Given the description of an element on the screen output the (x, y) to click on. 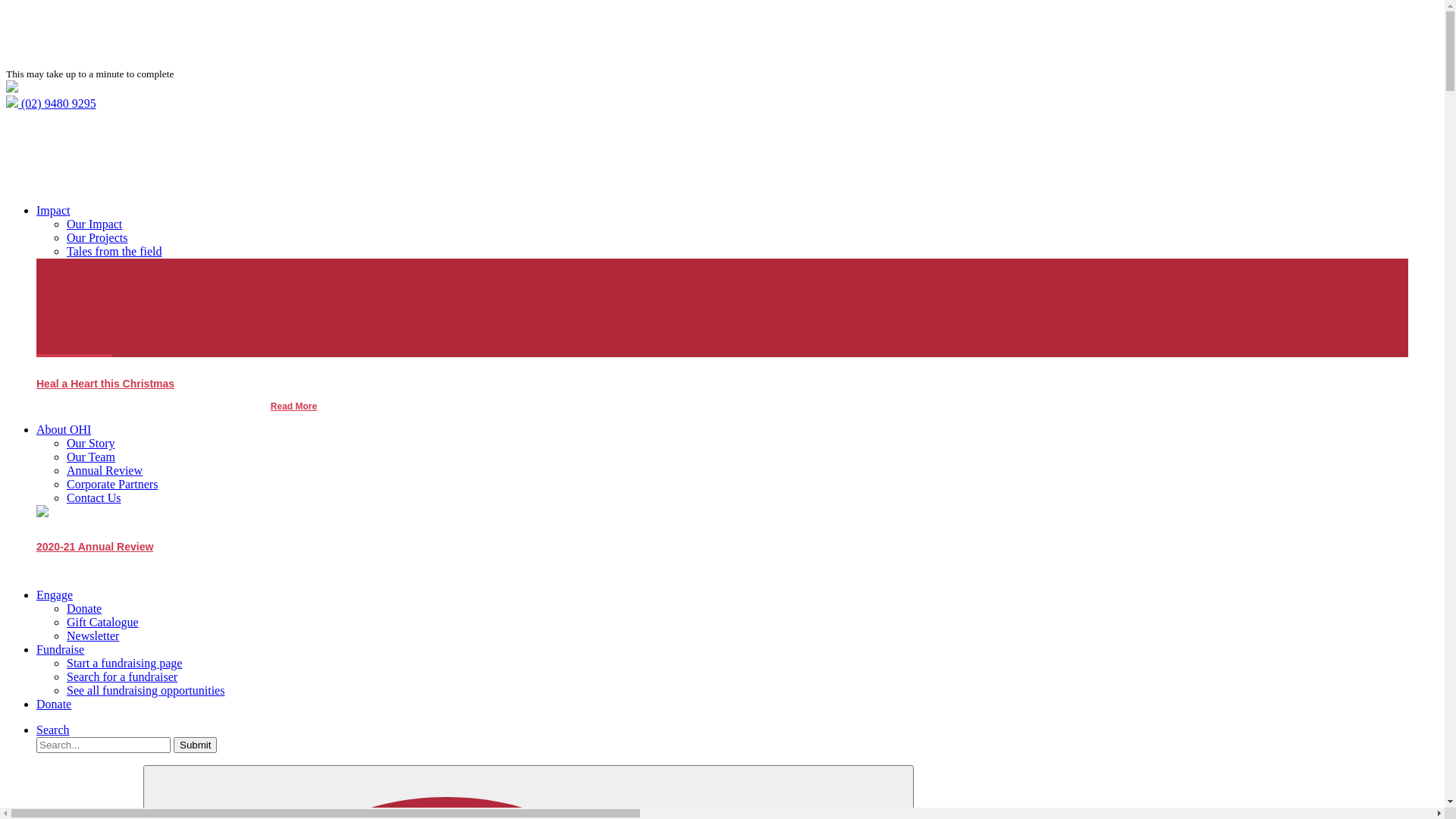
Impact Element type: text (52, 209)
Search Element type: text (52, 729)
Our Team Element type: text (90, 456)
Donate Element type: text (53, 703)
Annual Review Element type: text (104, 470)
Contact Us Element type: text (93, 497)
Gift Catalogue Element type: text (102, 621)
See all fundraising opportunities Element type: text (145, 690)
Heal a Heart this Christmas Element type: text (105, 387)
Corporate Partners Element type: text (111, 483)
Read More Element type: text (293, 406)
Start a fundraising page Element type: text (124, 662)
Our Story Element type: text (90, 442)
Newsletter Element type: text (92, 635)
Search for a fundraiser Element type: text (121, 676)
2020-21 Annual Review Element type: text (94, 550)
Our Projects Element type: text (96, 237)
Donate Element type: text (83, 608)
About OHI Element type: text (63, 429)
Fundraise Element type: text (60, 649)
Tales from the field Element type: text (114, 250)
Engage Element type: text (54, 594)
(02) 9480 9295 Element type: text (51, 103)
Open Heart International Homepage Element type: hover (12, 87)
Our Impact Element type: text (94, 223)
